Given the description of an element on the screen output the (x, y) to click on. 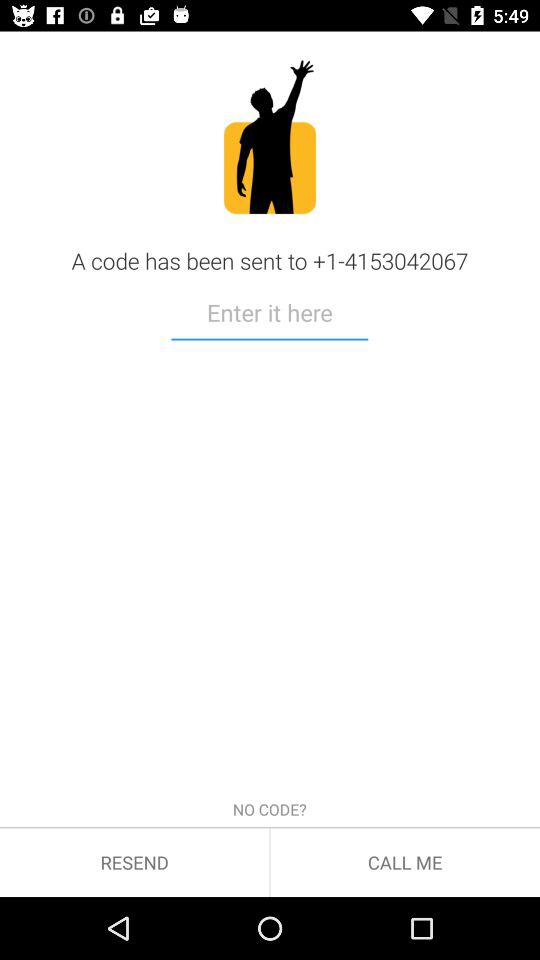
swipe until the resend icon (134, 862)
